Given the description of an element on the screen output the (x, y) to click on. 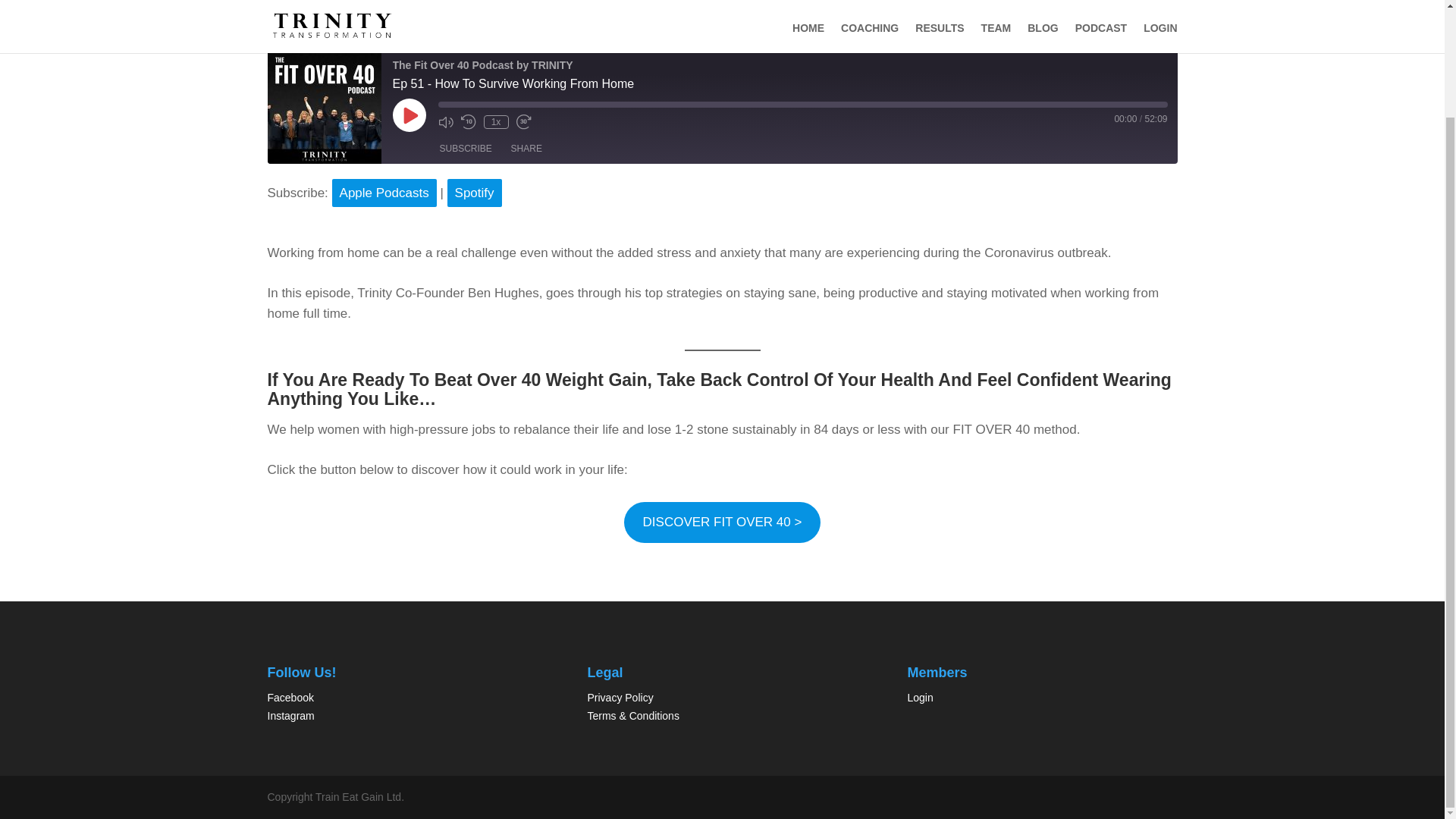
Spotify (474, 193)
SUBSCRIBE (465, 148)
Play Episode (409, 114)
The Fit Over 40 Podcast by TRINITY (323, 106)
Subscribe (465, 148)
Rewind 10 seconds (468, 121)
Play (409, 114)
Share (526, 148)
Rewind 10 Seconds (468, 121)
Fast Forward 30 seconds (523, 121)
Playback Speed (495, 121)
Apple Podcasts (383, 193)
1x (495, 121)
Fast Forward 30 seconds (523, 121)
